Given the description of an element on the screen output the (x, y) to click on. 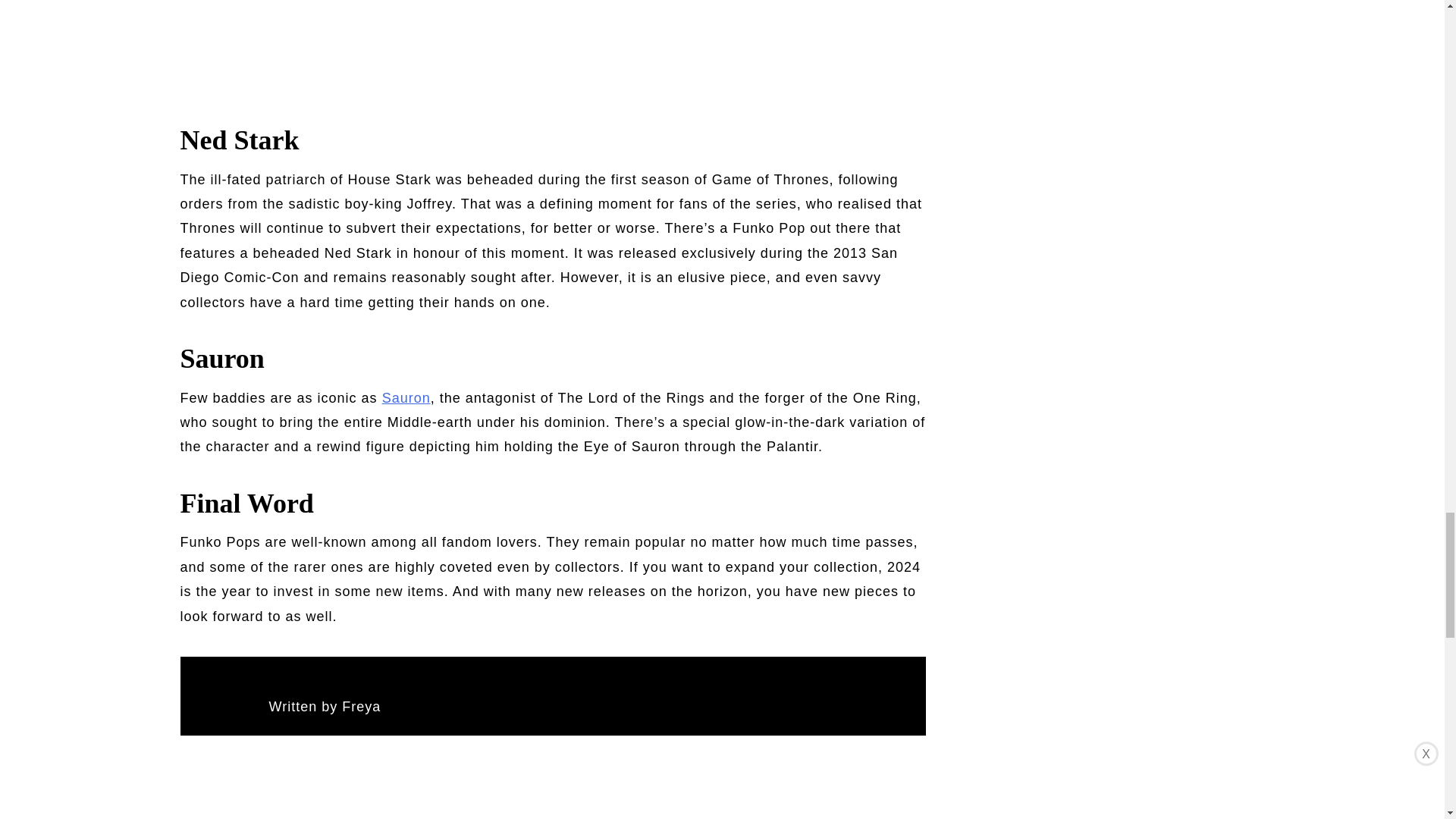
Sauron (405, 397)
